Given the description of an element on the screen output the (x, y) to click on. 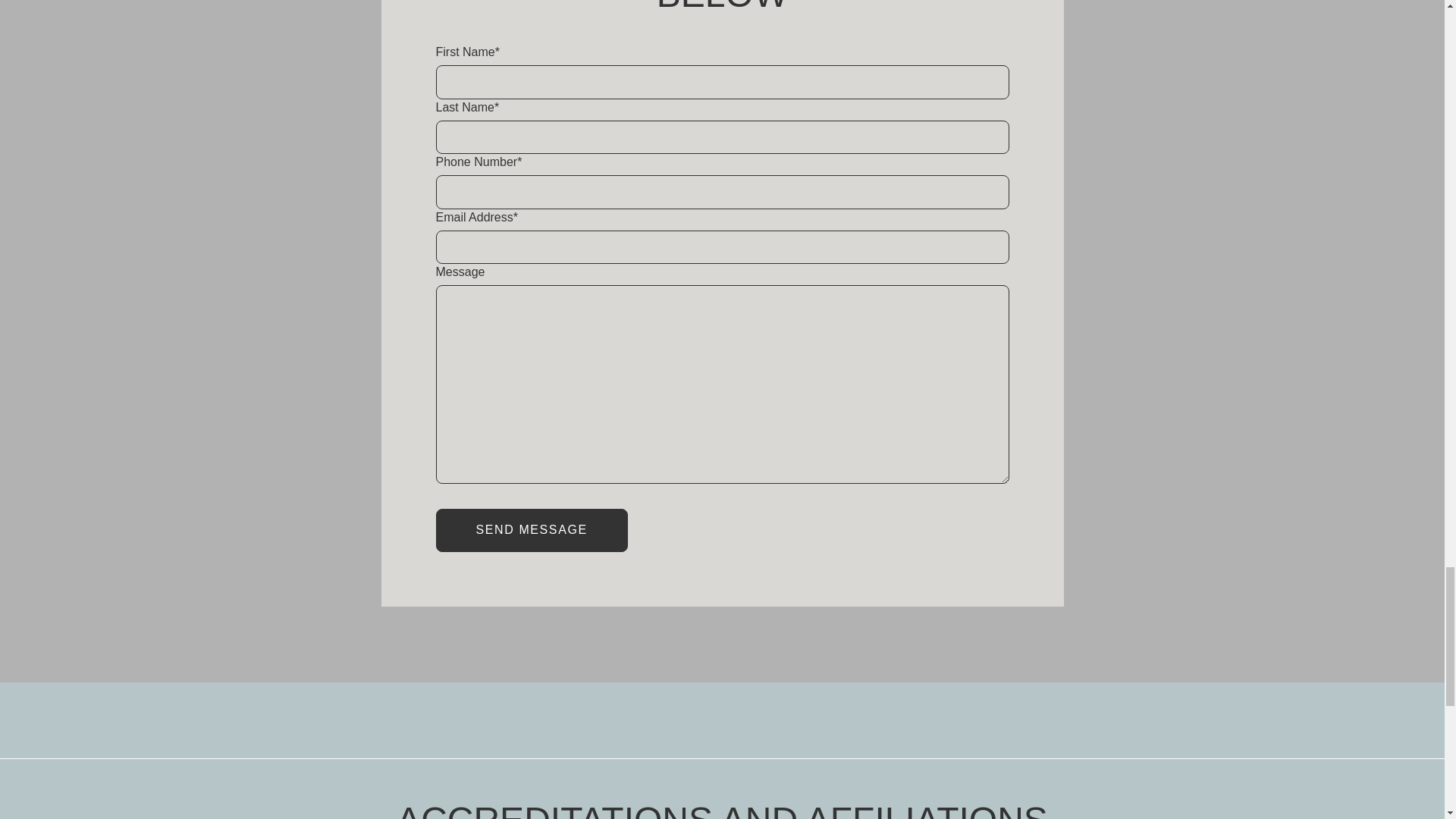
Send Message (531, 530)
